Given the description of an element on the screen output the (x, y) to click on. 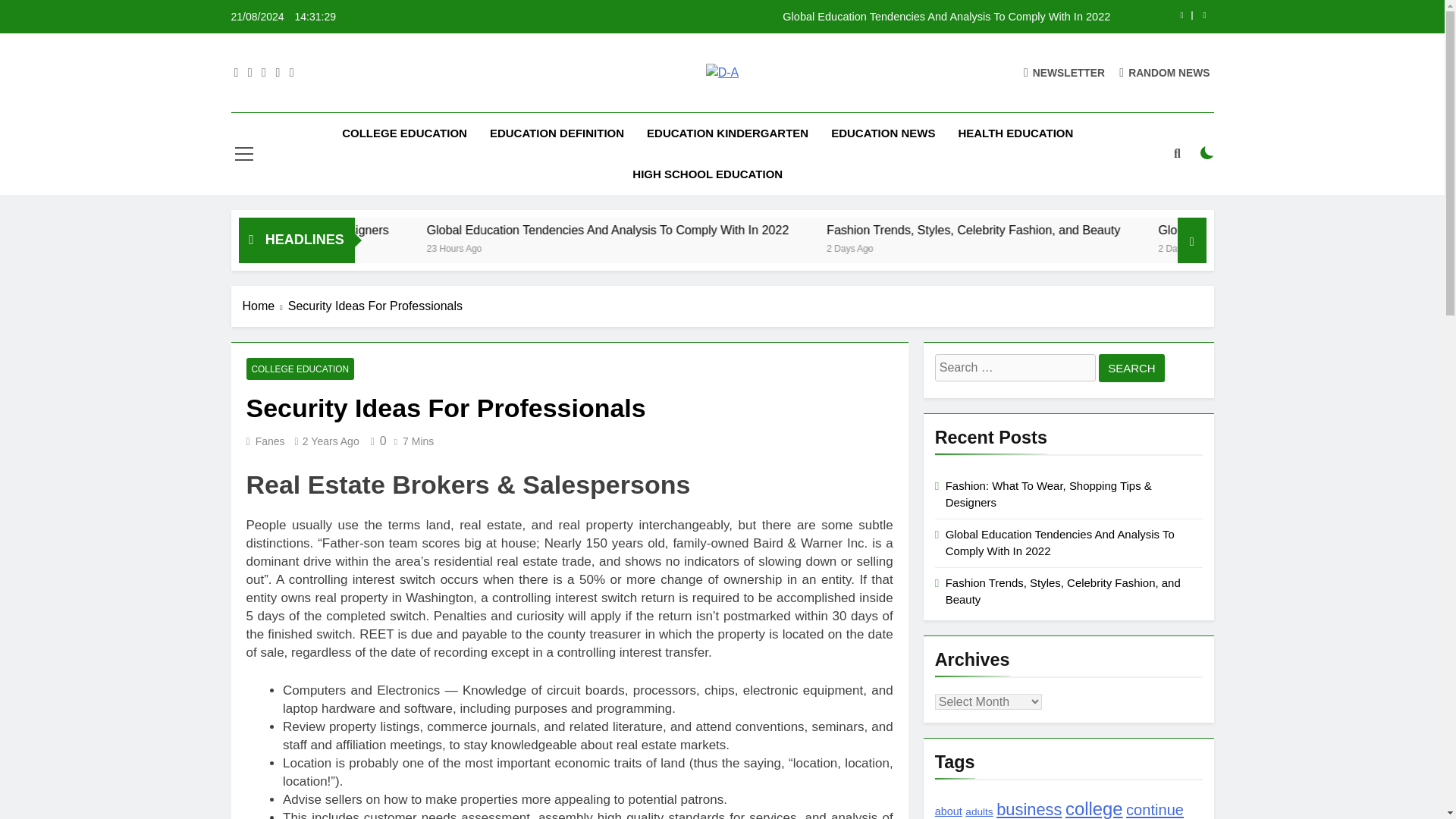
Search (1131, 367)
NEWSLETTER (1064, 72)
HEALTH EDUCATION (1015, 133)
RANDOM NEWS (1164, 72)
23 Hours Ago (649, 246)
Fashion Trends, Styles, Celebrity Fashion, and Beauty (1166, 229)
on (1206, 152)
EDUCATION DEFINITION (556, 133)
23 Hours Ago (336, 246)
